Given the description of an element on the screen output the (x, y) to click on. 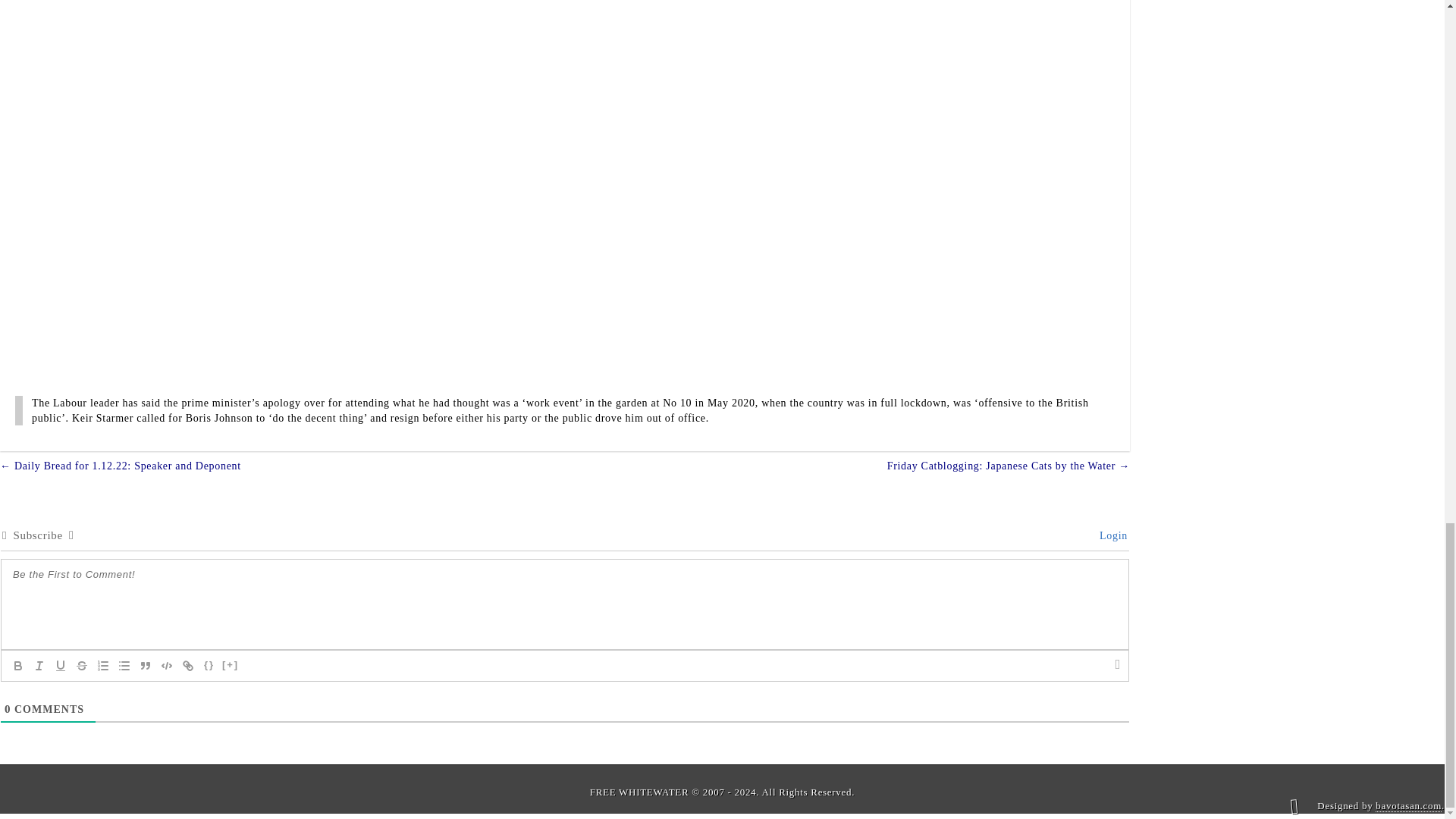
Login (1110, 535)
Italic (39, 665)
ordered (103, 665)
bullet (124, 665)
Bold (18, 665)
Ordered List (103, 665)
Blockquote (145, 665)
Unordered List (124, 665)
Underline (60, 665)
Strike (82, 665)
